Given the description of an element on the screen output the (x, y) to click on. 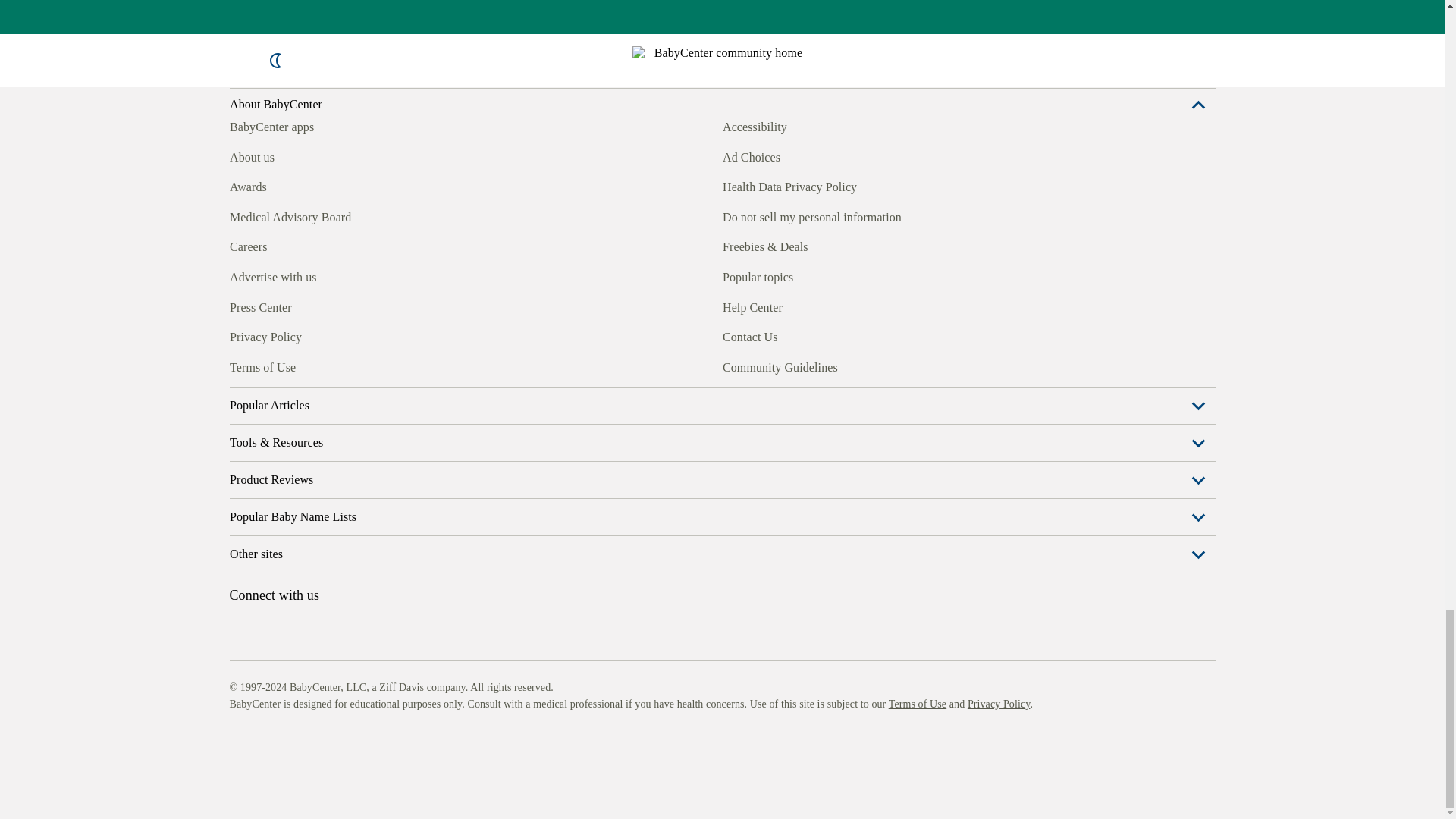
BabyCenter Twitter feed (379, 364)
BabyCenter YouTube channel (344, 364)
BabyCenter Facebook page (239, 364)
BabyCenter Pinterest board (309, 364)
BabyCenter Instagram feed (274, 364)
